Given the description of an element on the screen output the (x, y) to click on. 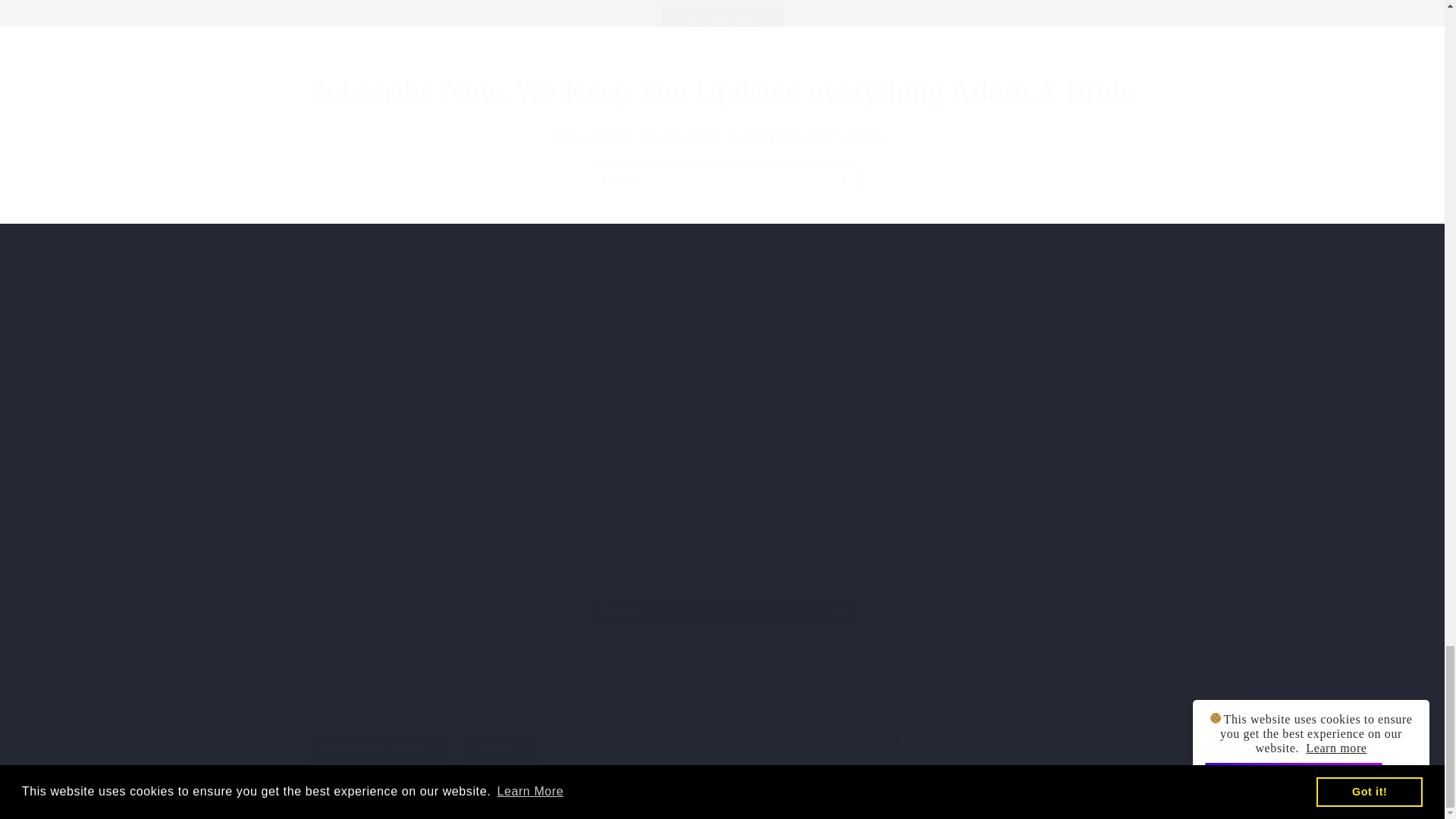
Email (721, 593)
Subscribe Now, We Keep You Updated everything Adorn A Bride (722, 181)
